Given the description of an element on the screen output the (x, y) to click on. 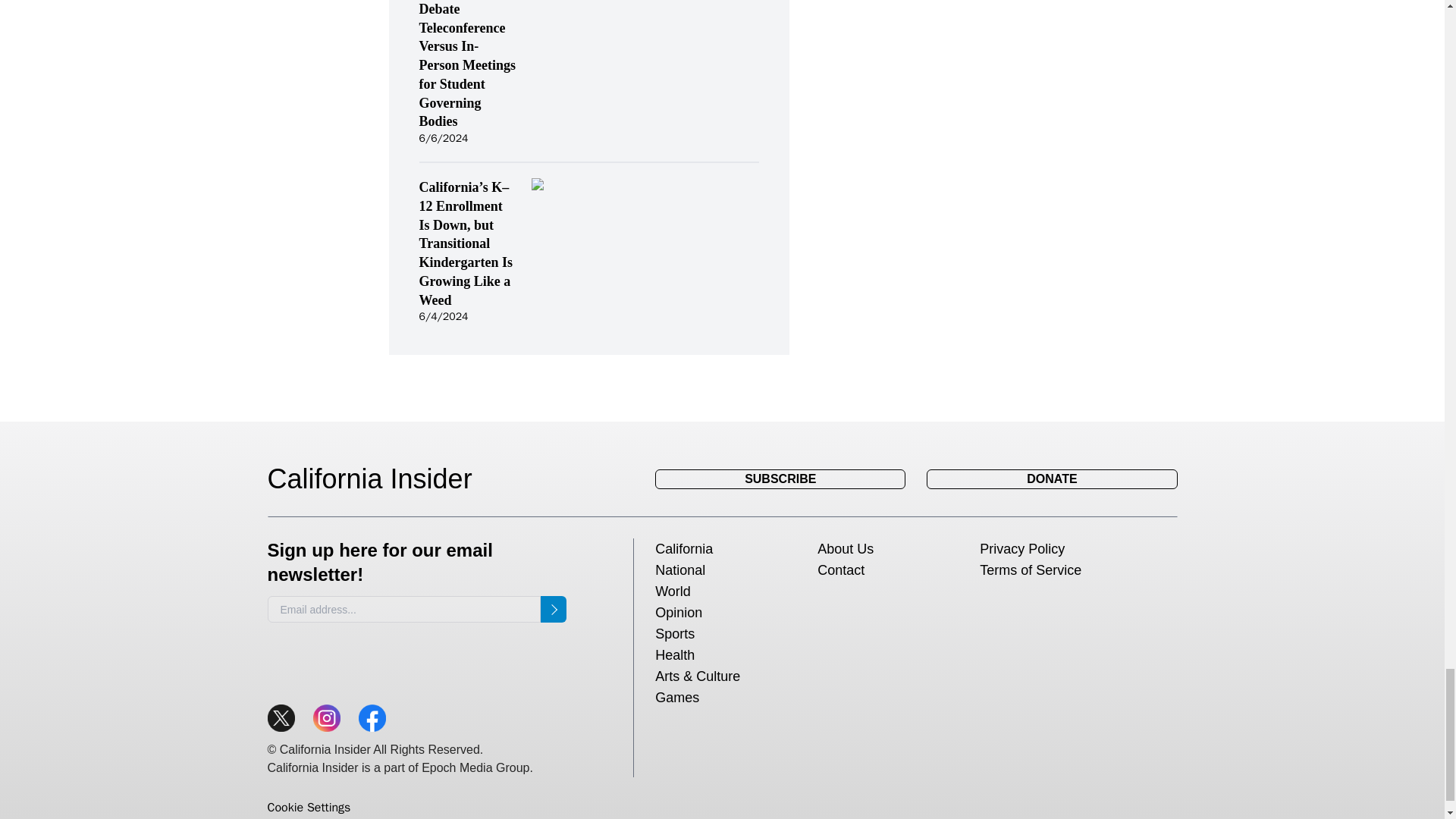
California Insider (380, 479)
DONATE (1051, 478)
California (684, 548)
SUBSCRIBE (780, 478)
